Given the description of an element on the screen output the (x, y) to click on. 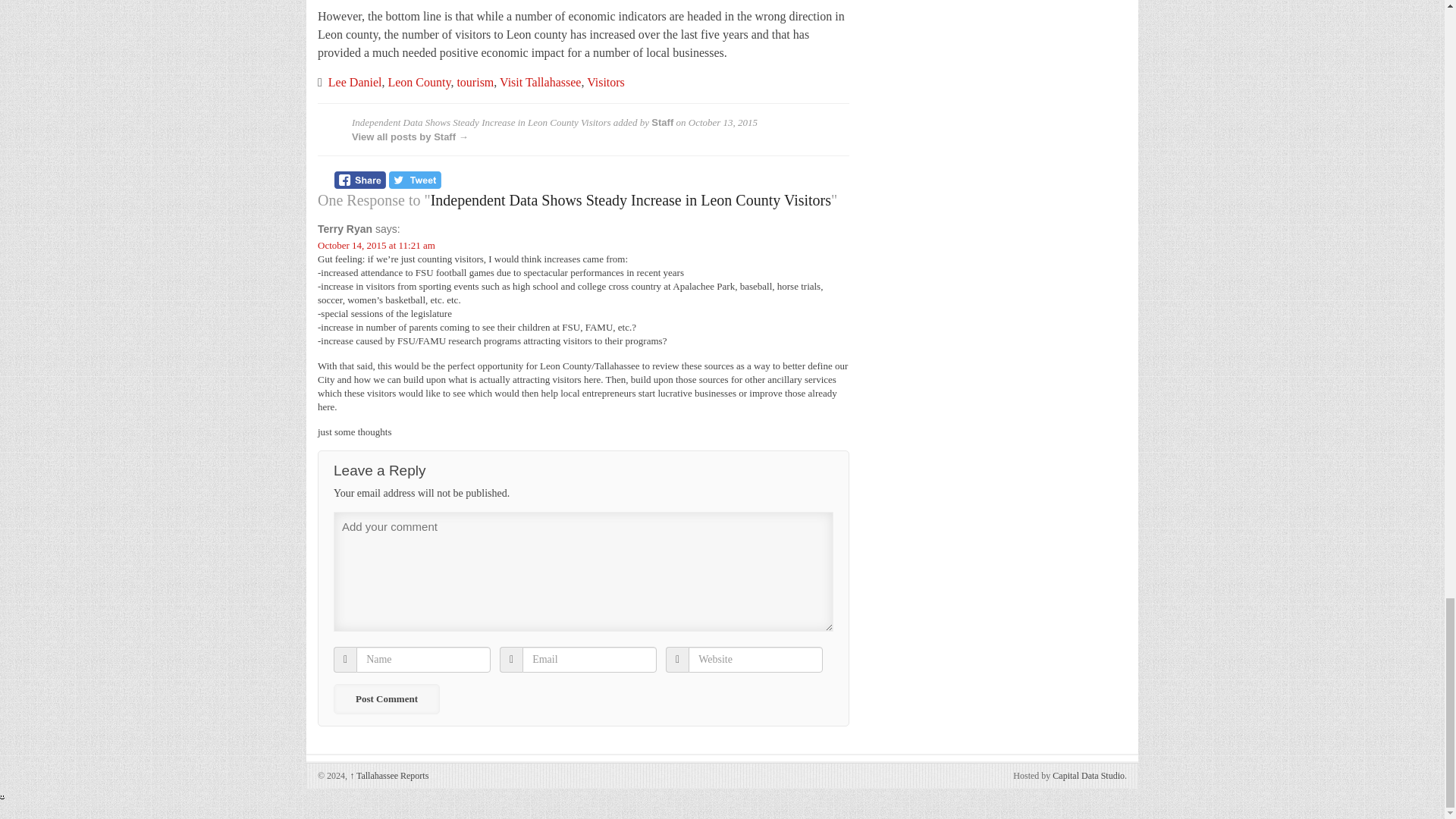
Post Comment (386, 698)
